Given the description of an element on the screen output the (x, y) to click on. 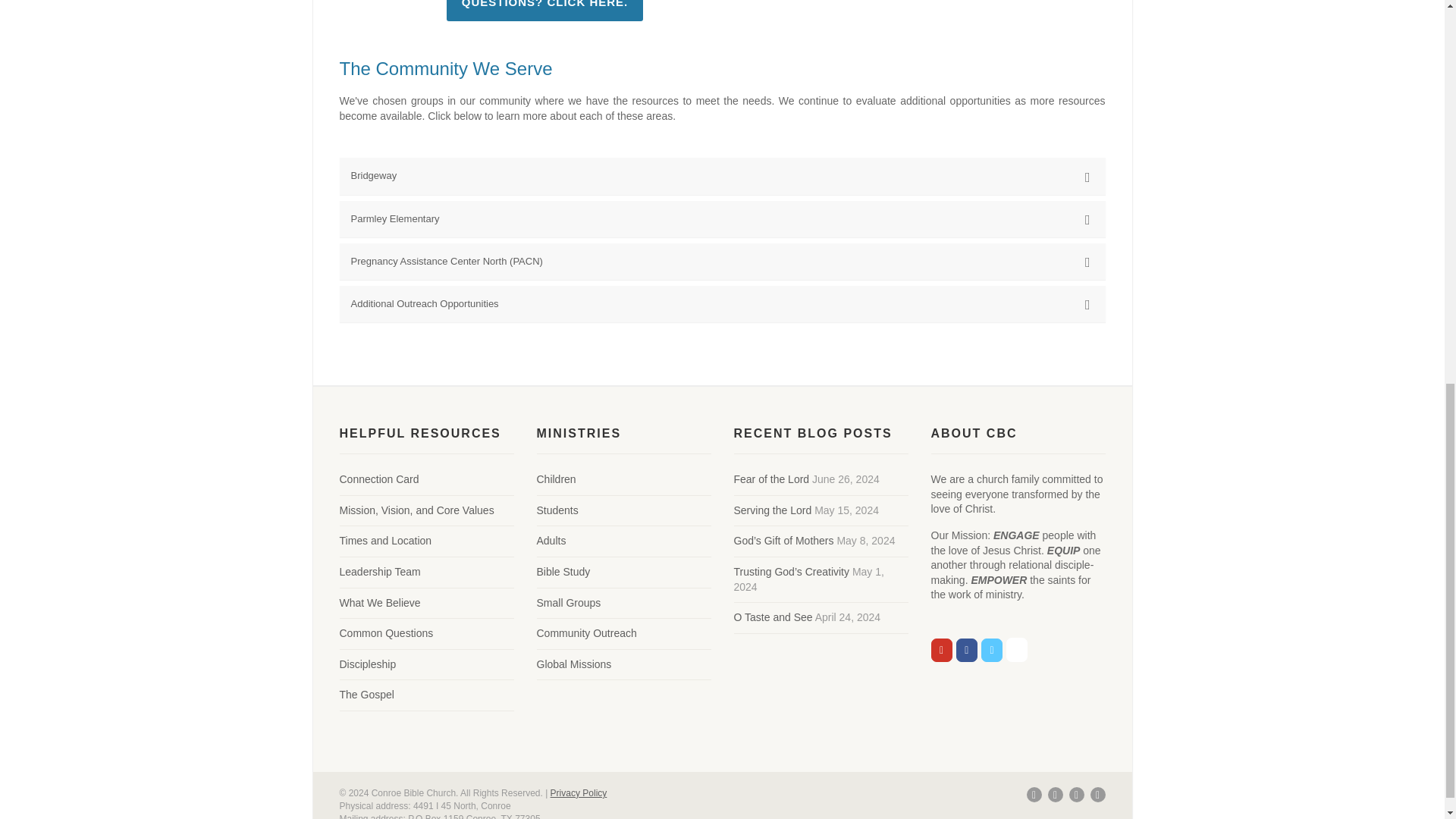
CBC on Youtube (941, 649)
CBC on Facebook (966, 649)
CBC on Vimeo (992, 649)
